Given the description of an element on the screen output the (x, y) to click on. 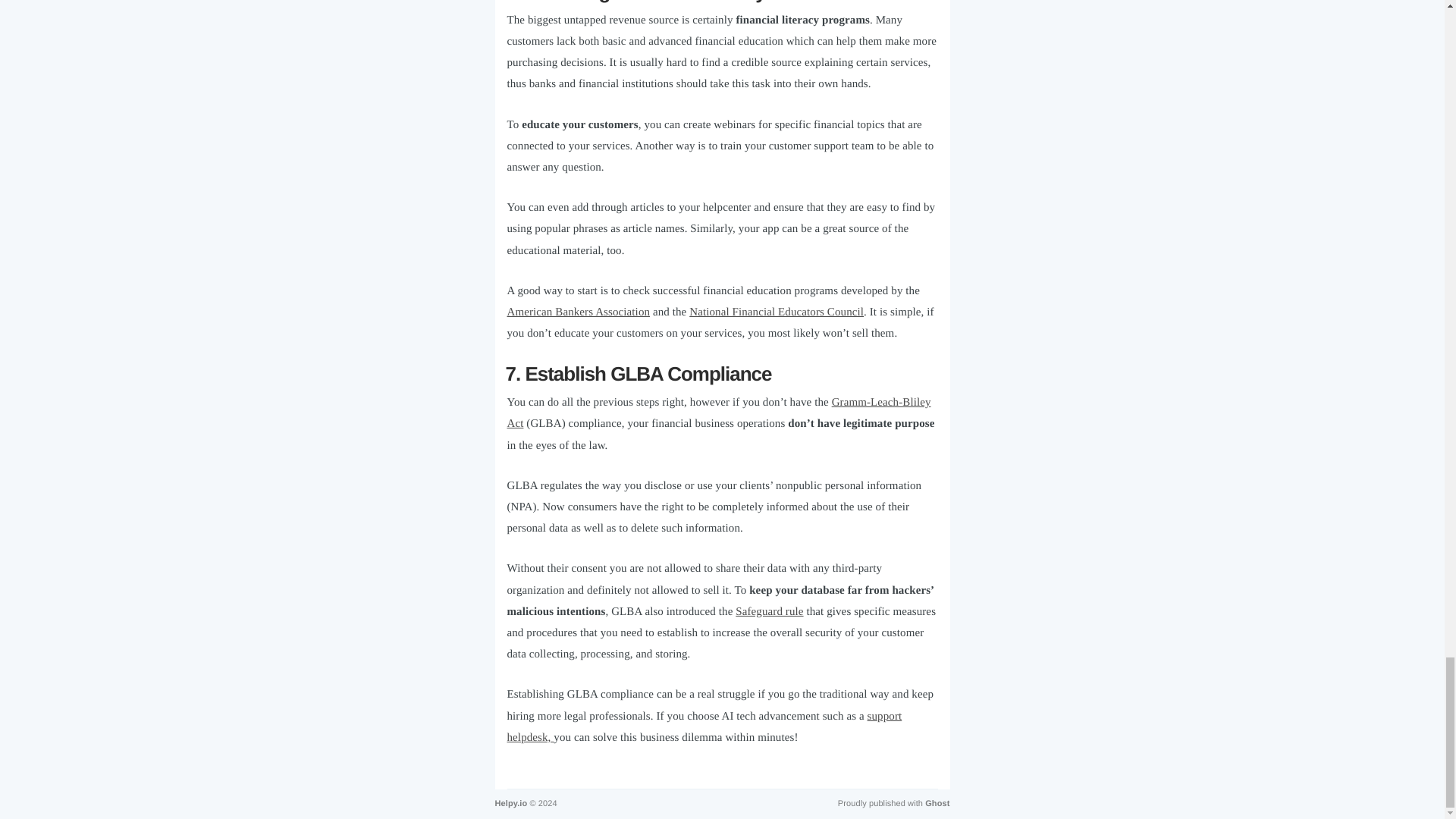
American Bankers Association (577, 312)
Safeguard rule (769, 612)
Ghost (936, 803)
support helpdesk, (703, 726)
Gramm-Leach-Bliley Act (718, 412)
National Financial Educators Council (775, 312)
Helpy.io (511, 803)
